Given the description of an element on the screen output the (x, y) to click on. 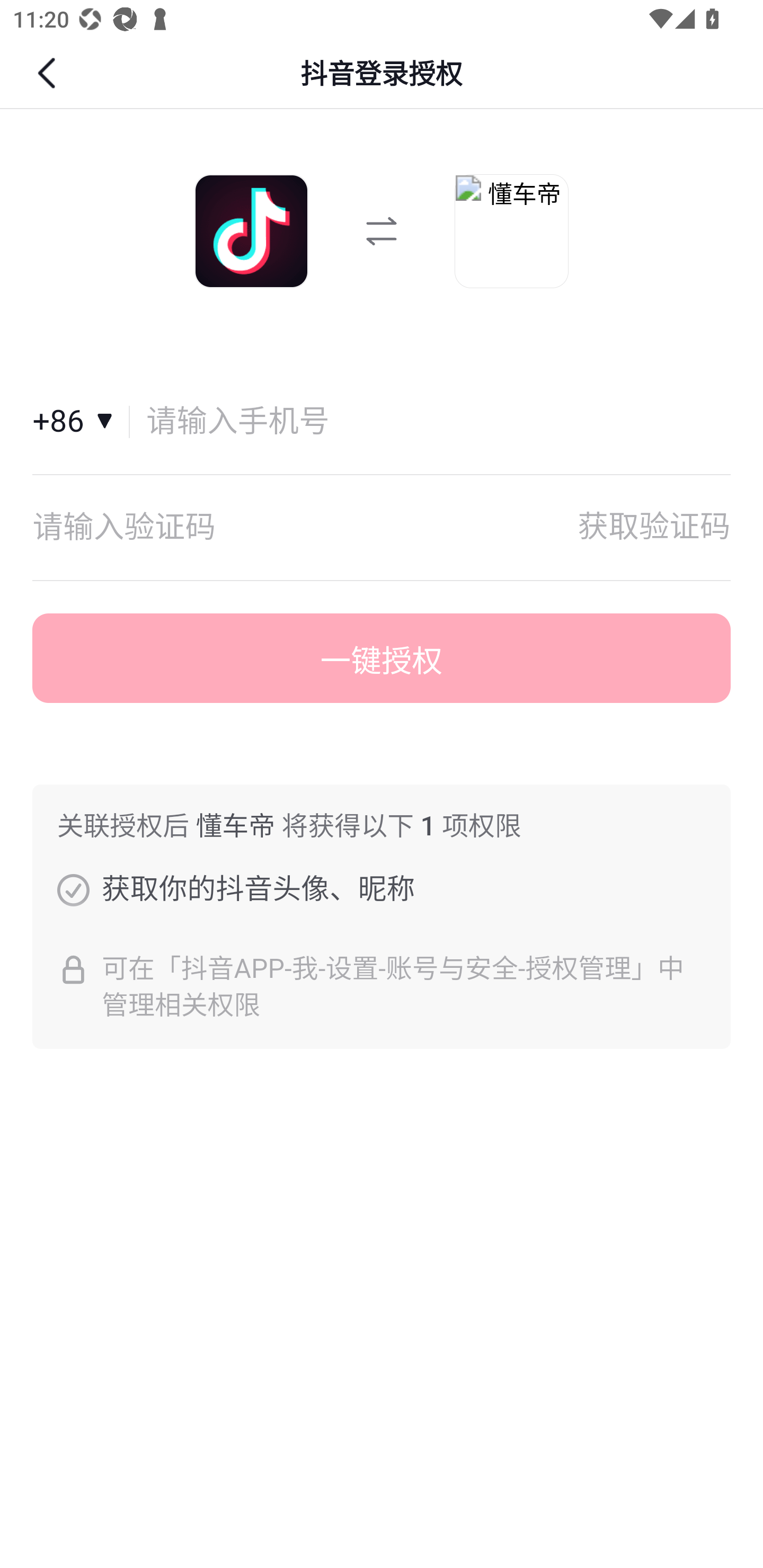
返回 (49, 72)
国家和地区+86 (81, 421)
获取验证码 (653, 526)
一键授权 (381, 658)
获取你的抖音头像、昵称 (72, 889)
